Given the description of an element on the screen output the (x, y) to click on. 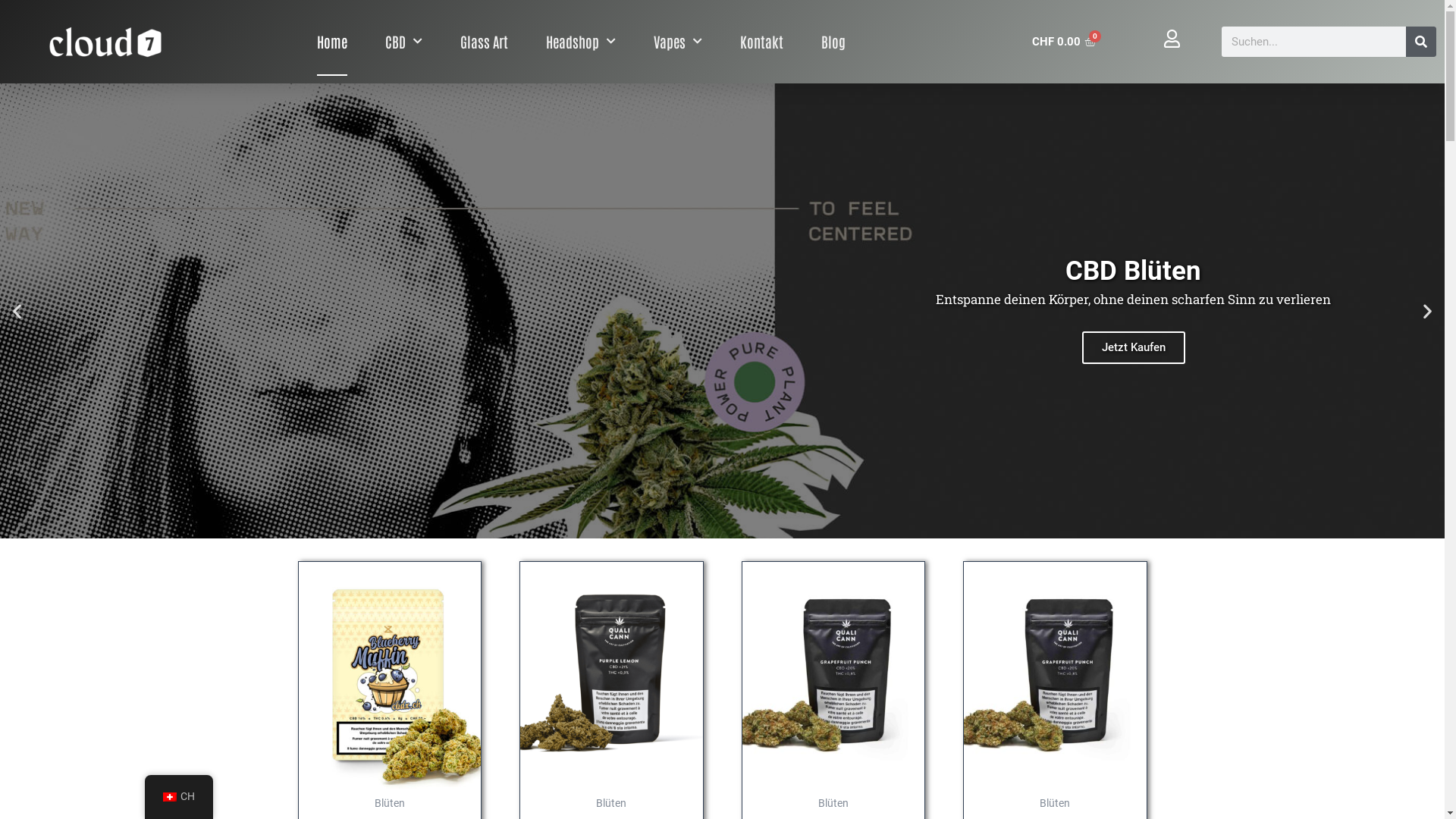
Kontakt Element type: text (761, 41)
Blog Element type: text (833, 41)
CBD Element type: text (403, 41)
CH Element type: text (178, 796)
Glass Art Element type: text (484, 41)
Suche Element type: text (1420, 41)
Vapes Element type: text (677, 41)
German Element type: hover (168, 796)
Headshop Element type: text (580, 41)
CHF 0.00
0
Warenkorb Element type: text (1063, 41)
Home Element type: text (331, 41)
